Given the description of an element on the screen output the (x, y) to click on. 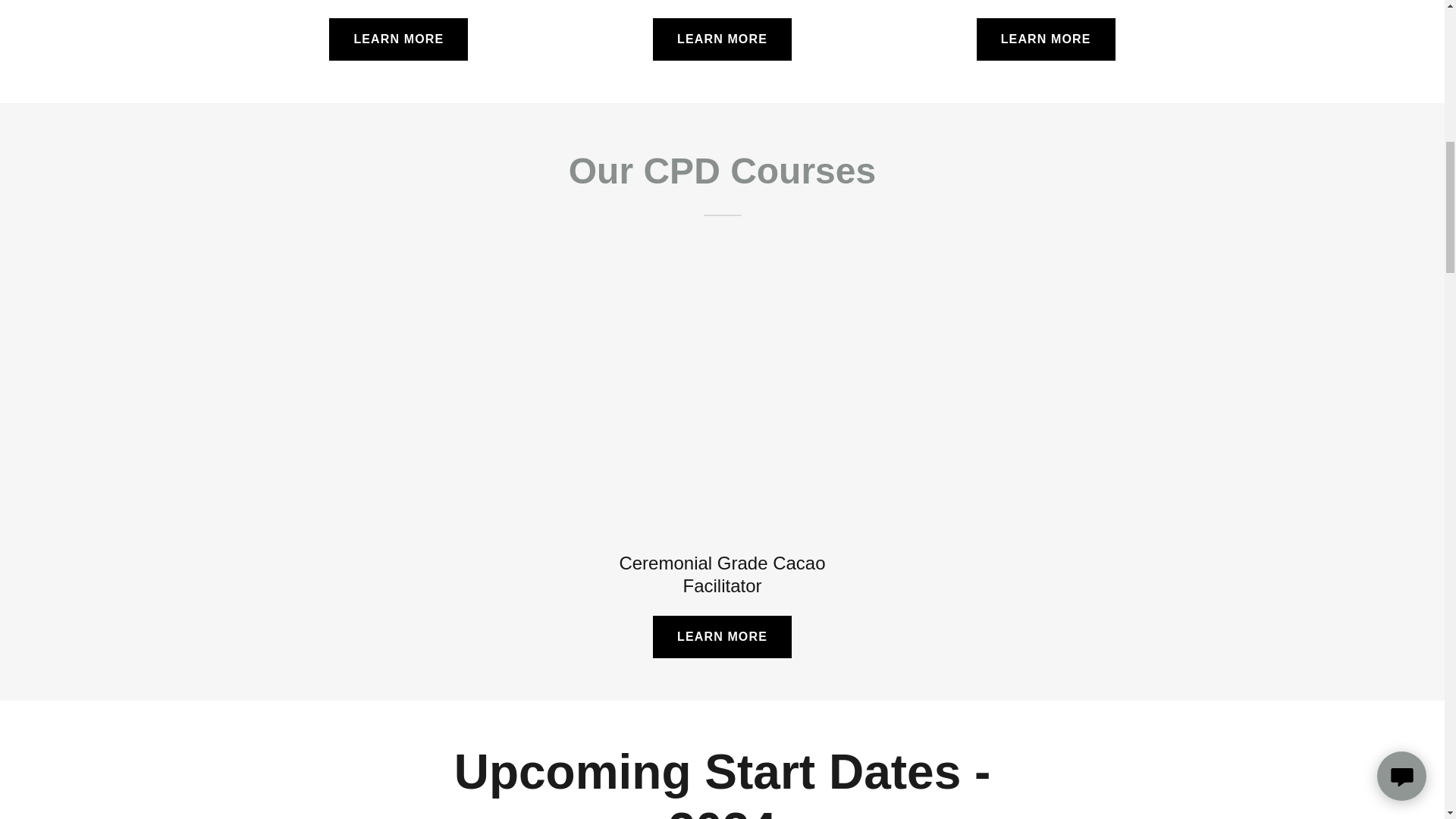
LEARN MORE (722, 39)
LEARN MORE (1045, 39)
LEARN MORE (722, 636)
LEARN MORE (398, 39)
